Given the description of an element on the screen output the (x, y) to click on. 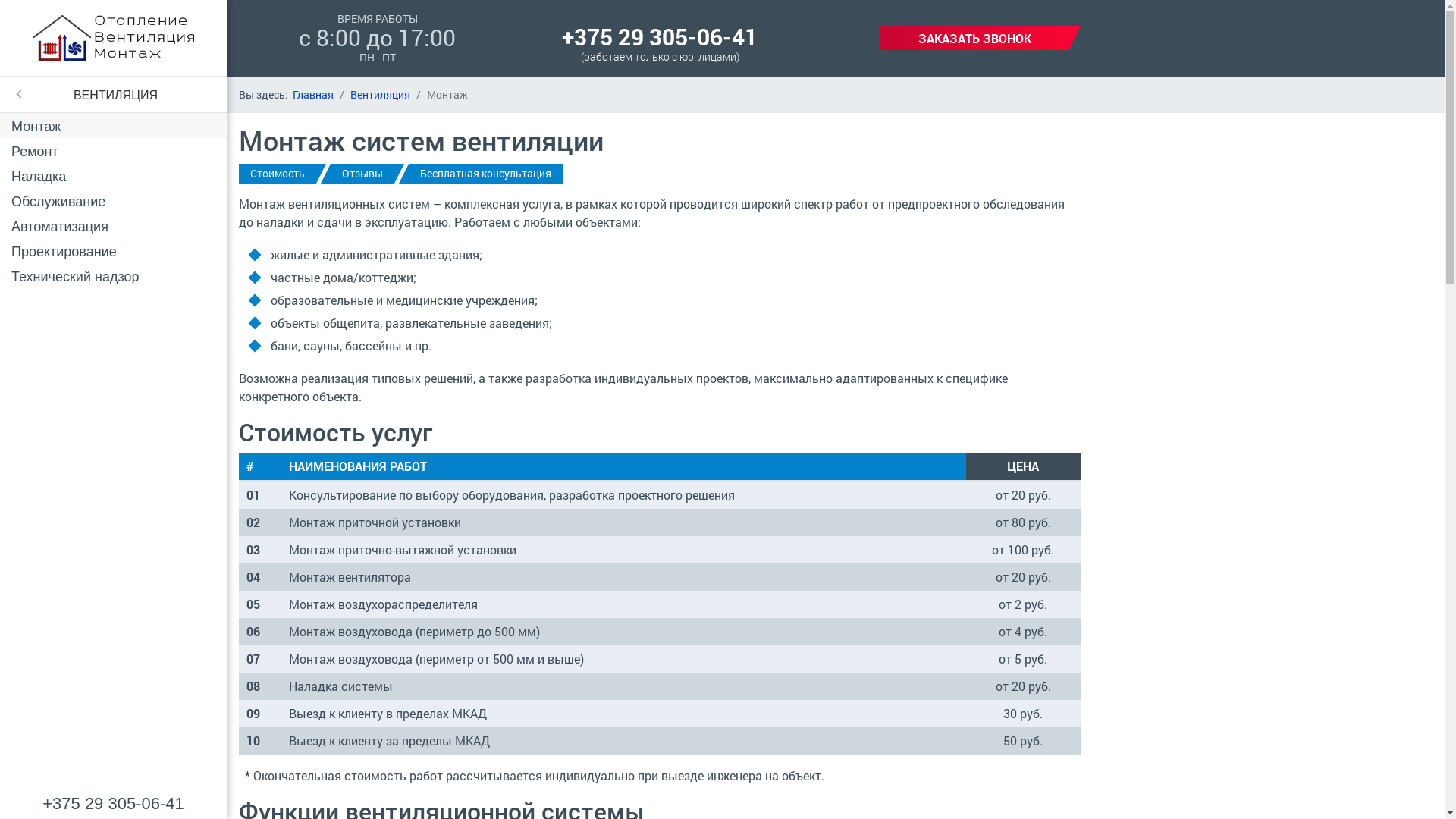
Close submenu Element type: text (15, 93)
+375 29 305-06-41 Element type: text (659, 36)
